Given the description of an element on the screen output the (x, y) to click on. 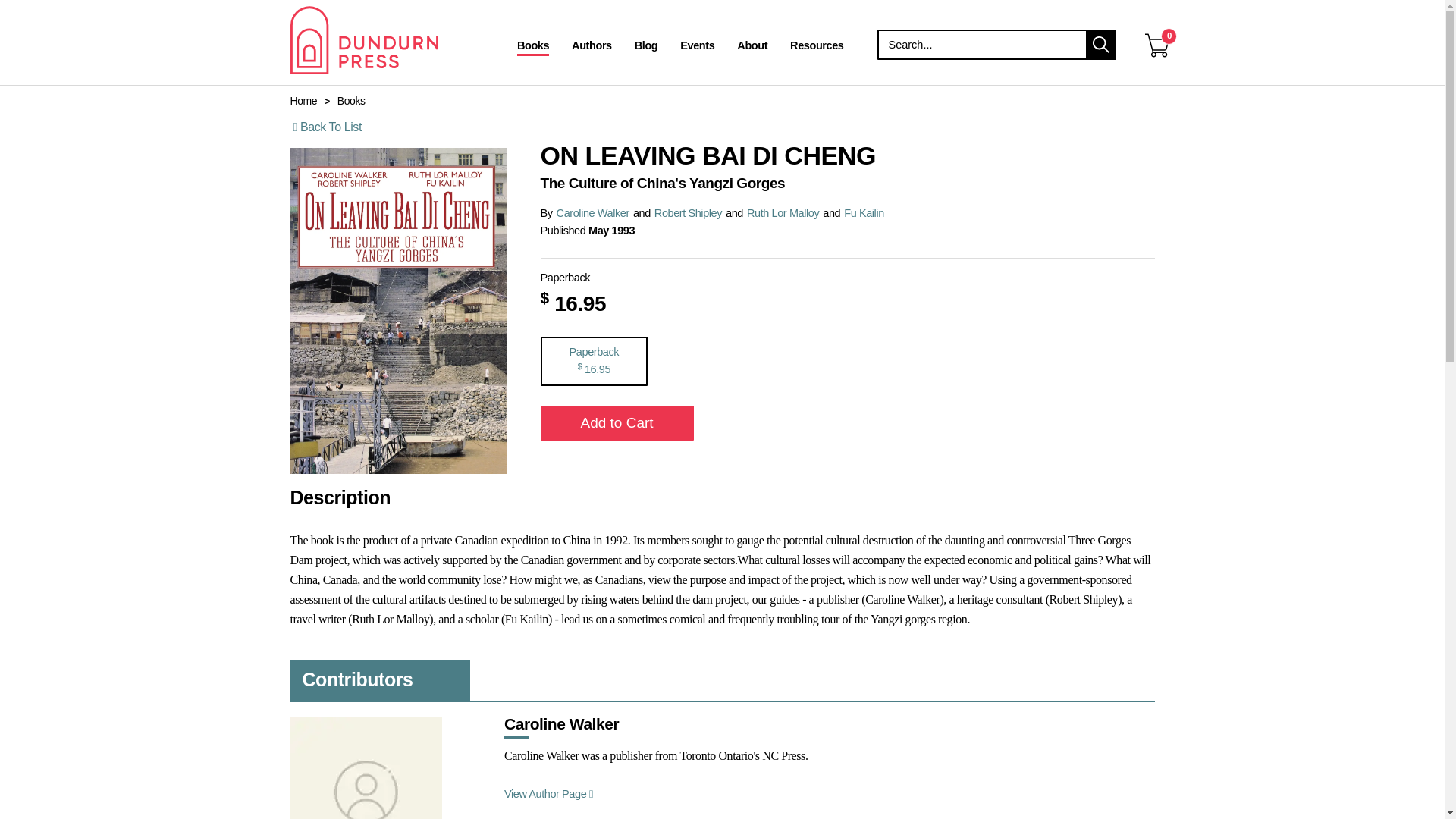
Blog (646, 46)
Books (351, 101)
Dundurn - Publishers of fine books (389, 39)
About (751, 46)
Add to Cart (616, 423)
Ruth Lor Malloy (782, 213)
View Author Page   (549, 793)
Events (696, 46)
Authors (591, 46)
Home (303, 101)
Resources (816, 46)
Fu Kailin (863, 213)
search (1101, 44)
Books (532, 46)
Caroline Walker (592, 213)
